Given the description of an element on the screen output the (x, y) to click on. 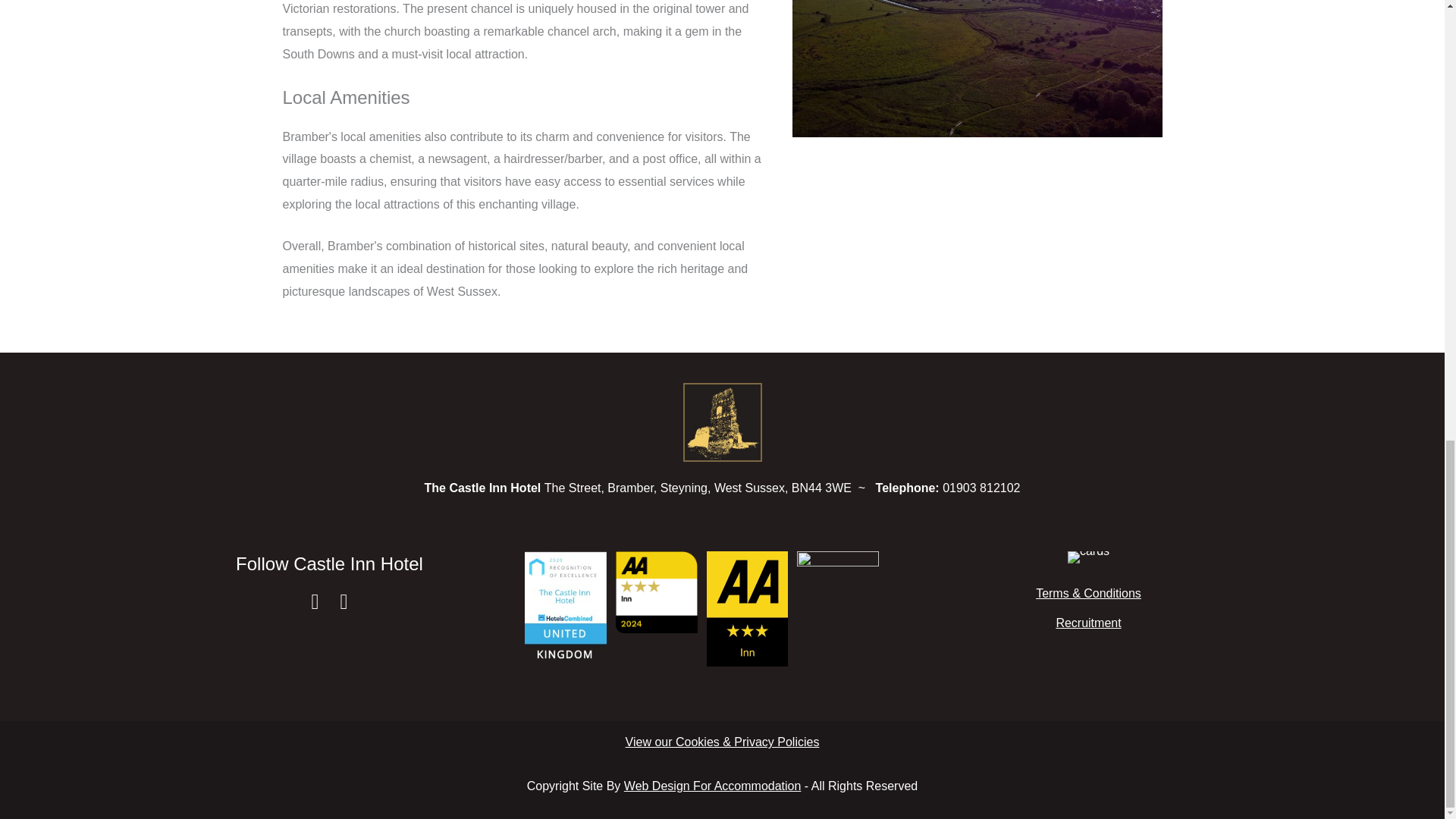
Kayak Awards (837, 592)
cards (1088, 557)
logo-cropped (722, 422)
01903 812102 (981, 487)
Recruitment (1087, 623)
Web Design For Accommodation (713, 785)
AA-GAC-INN-3STAR-GOLD (656, 592)
